Given the description of an element on the screen output the (x, y) to click on. 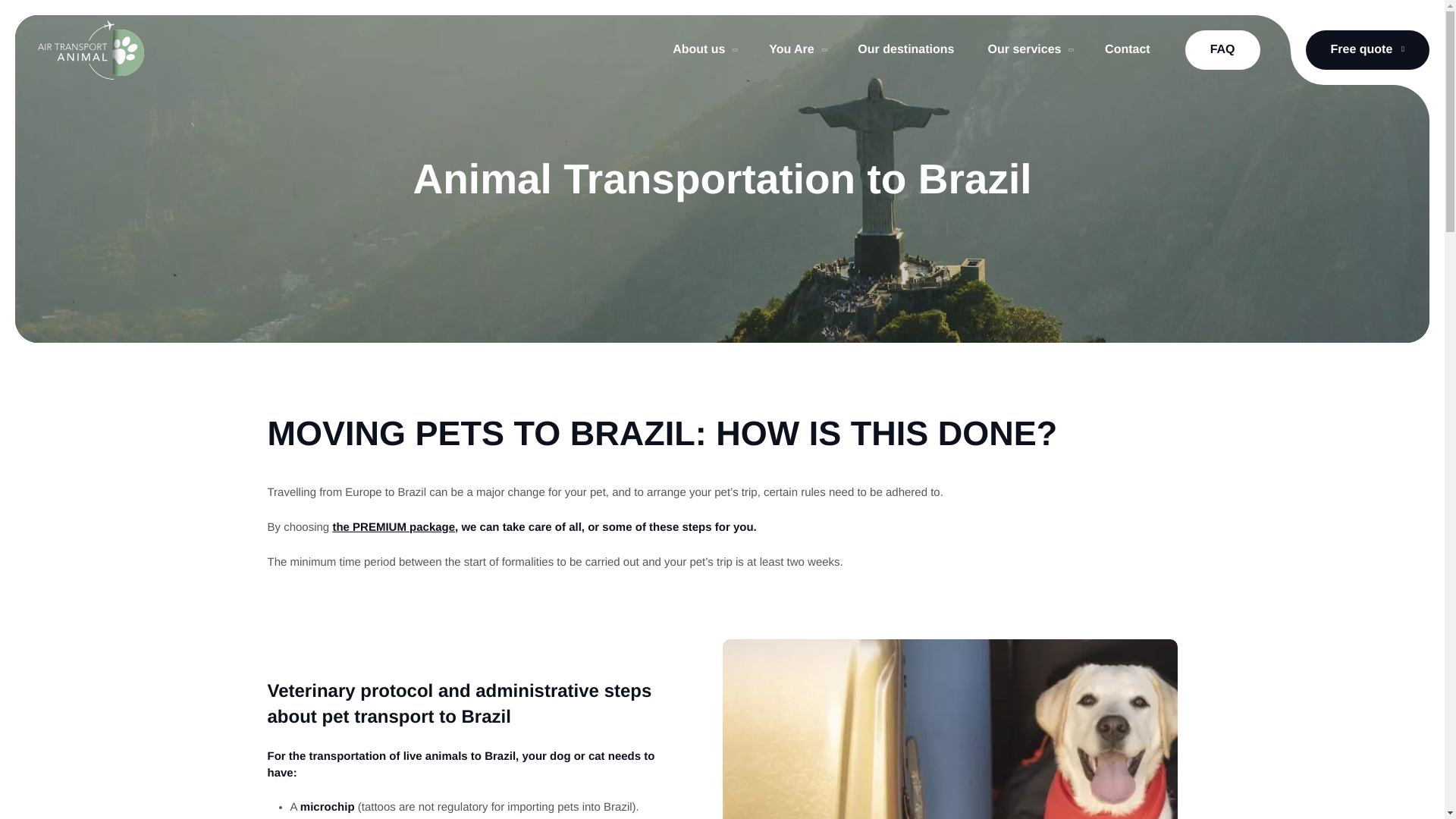
Contact (1127, 49)
Our services (1029, 49)
the PREMIUM package (392, 526)
Our destinations (906, 49)
Free quote (1367, 49)
FAQ (1222, 49)
About us (704, 49)
You Are (796, 49)
